Given the description of an element on the screen output the (x, y) to click on. 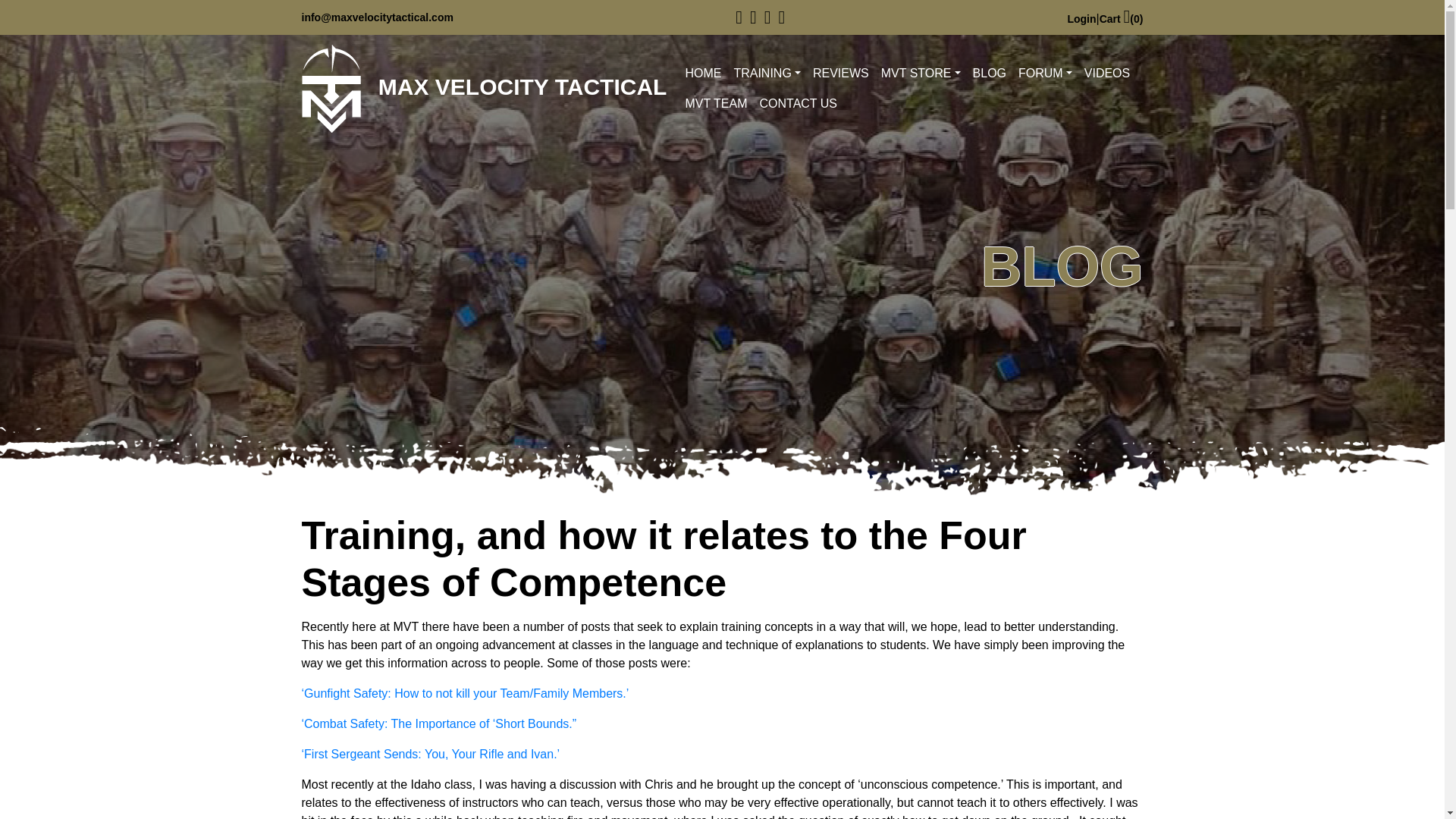
MAX VELOCITY TACTICAL (483, 88)
HOME (702, 73)
Instagram (753, 16)
MVT STORE (920, 73)
MVT TEAM (715, 103)
Facebook (738, 16)
TRAINING (766, 73)
RSS (780, 16)
RSS (780, 16)
CONTACT US (797, 103)
Training (766, 73)
Instagram (753, 16)
BLOG (988, 73)
YouTube (767, 16)
Facebook (738, 16)
